Given the description of an element on the screen output the (x, y) to click on. 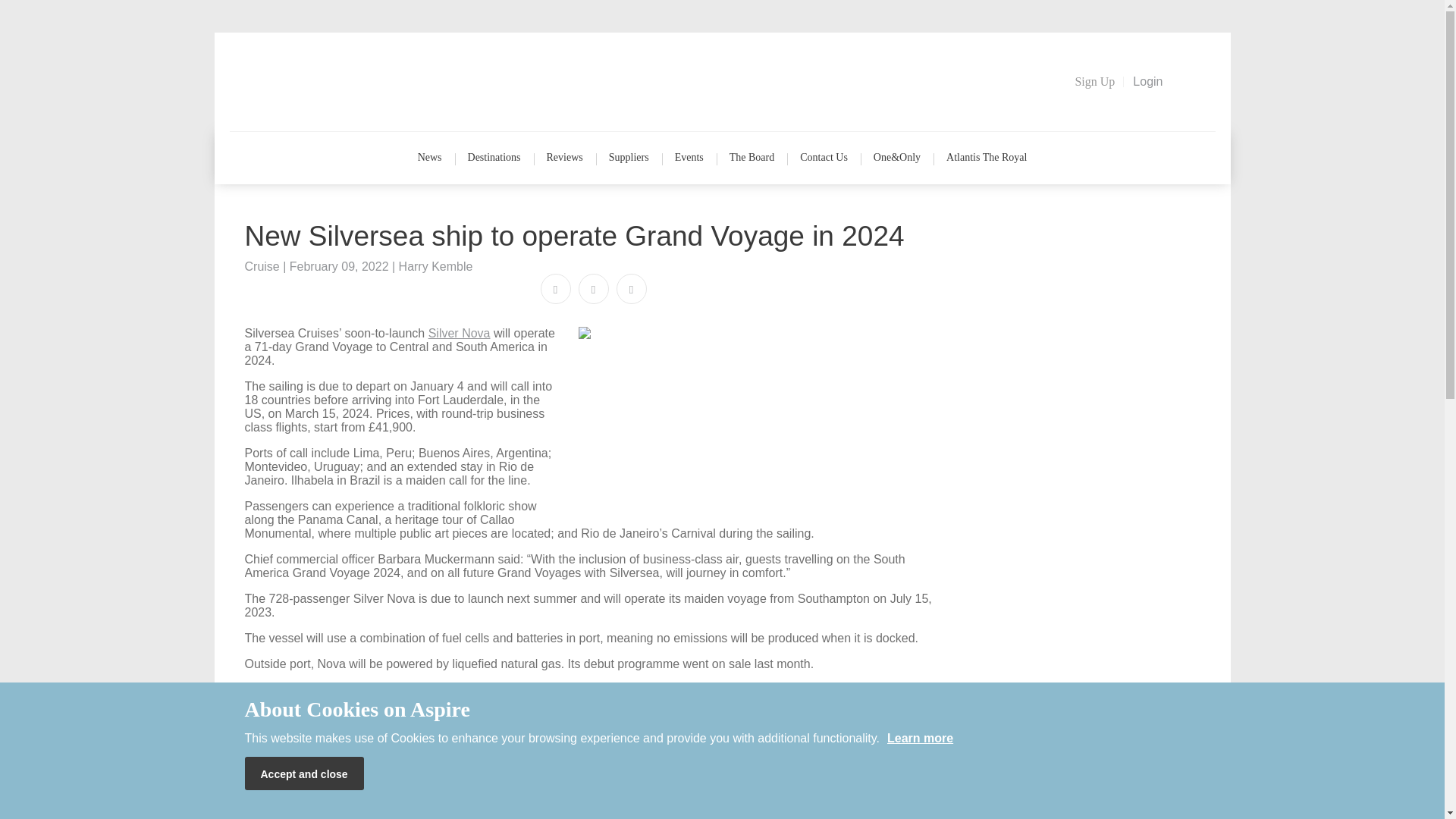
Share on Facebook (555, 288)
Events (689, 157)
Reviews (564, 157)
The Board (751, 157)
Search (1193, 80)
Silver Nova (459, 332)
Suppliers (628, 157)
Destinations (494, 157)
Atlantis The Royal (986, 157)
Contact Us (823, 157)
